Given the description of an element on the screen output the (x, y) to click on. 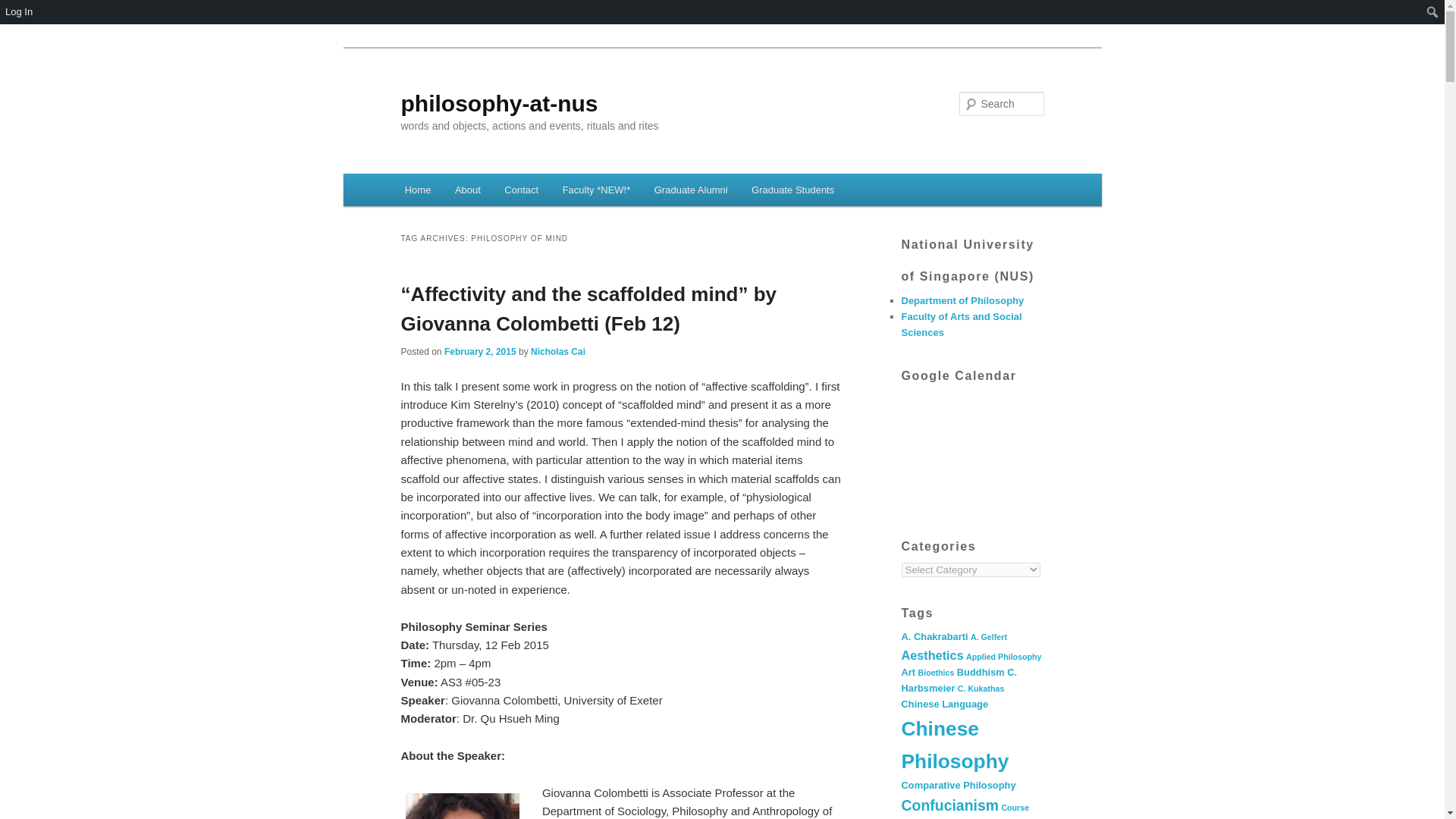
Home (417, 189)
Nicholas Cai (558, 351)
philosophy-at-nus (498, 103)
11:16 pm (480, 351)
February 2, 2015 (480, 351)
About (467, 189)
Graduate Alumni (690, 189)
Skip to primary content (472, 192)
philosophy-at-nus (498, 103)
Contact (521, 189)
Search (24, 8)
Graduate Students (792, 189)
View all posts by Nicholas Cai (558, 351)
Skip to secondary content (479, 192)
